Given the description of an element on the screen output the (x, y) to click on. 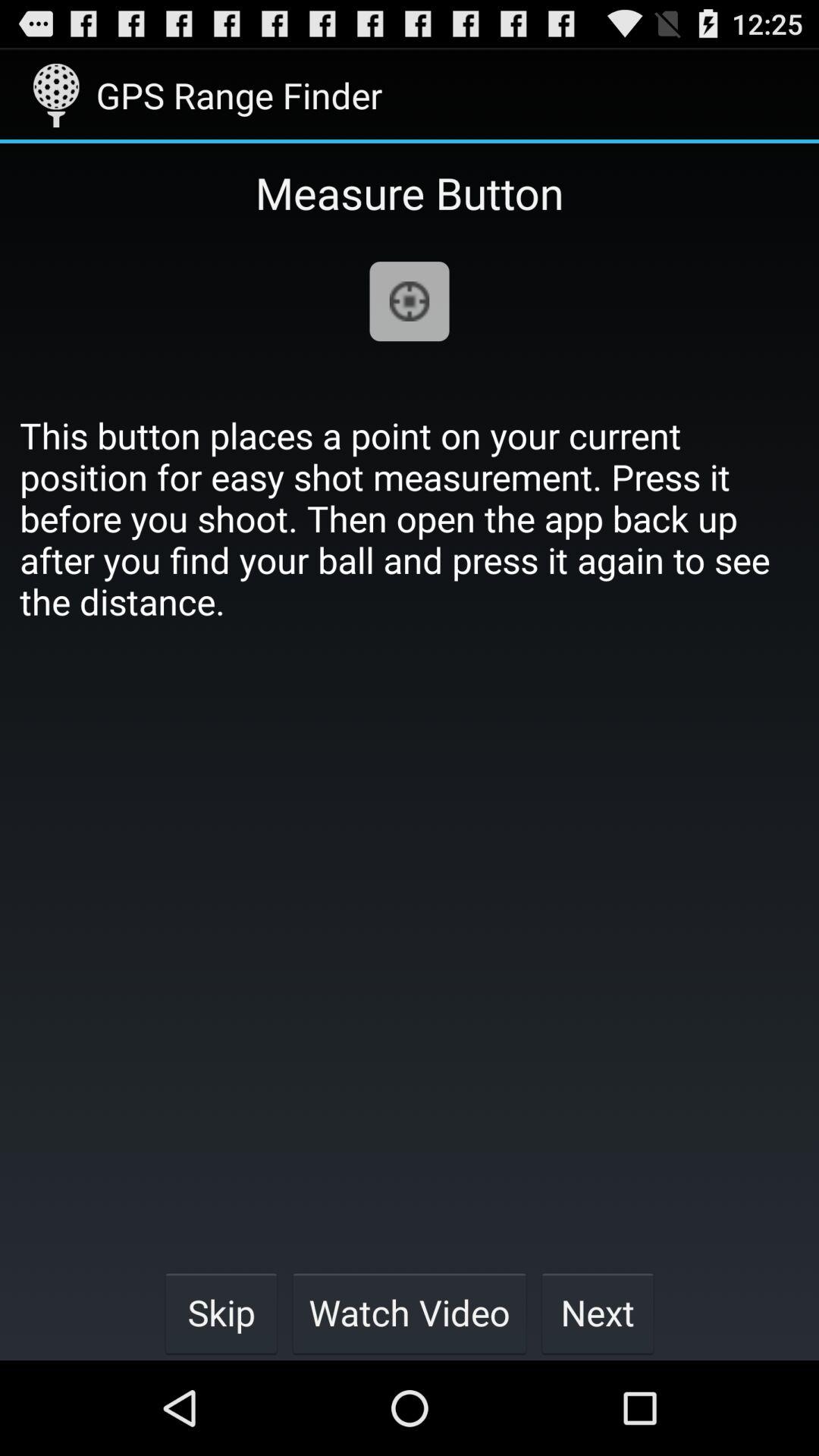
open the watch video button (409, 1312)
